Given the description of an element on the screen output the (x, y) to click on. 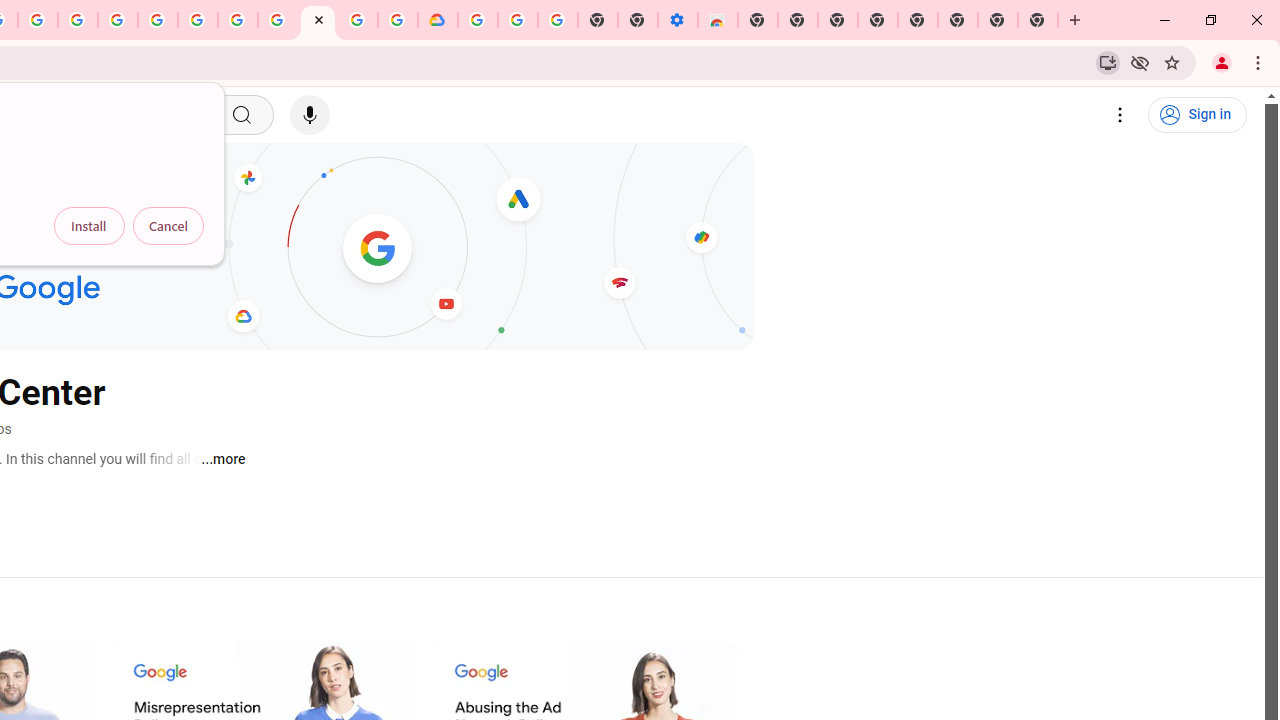
Settings (1119, 115)
Browse the Google Chrome Community - Google Chrome Community (397, 20)
Turn cookies on or off - Computer - Google Account Help (557, 20)
Install (89, 225)
New Tab (1037, 20)
Sign in - Google Accounts (157, 20)
Create your Google Account (37, 20)
Google Transparency Center - YouTube (317, 20)
